Given the description of an element on the screen output the (x, y) to click on. 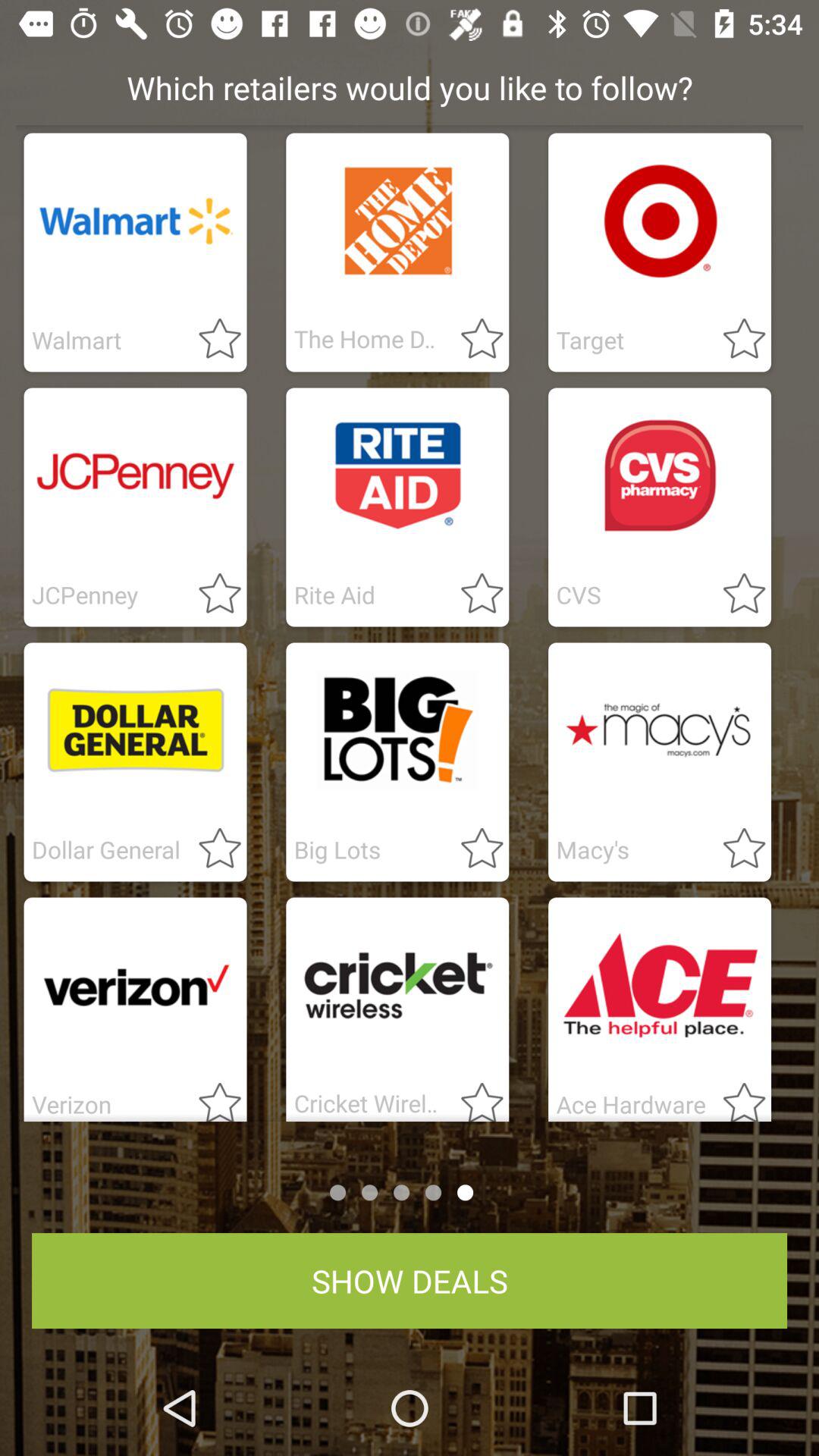
save store to favorites (210, 849)
